Given the description of an element on the screen output the (x, y) to click on. 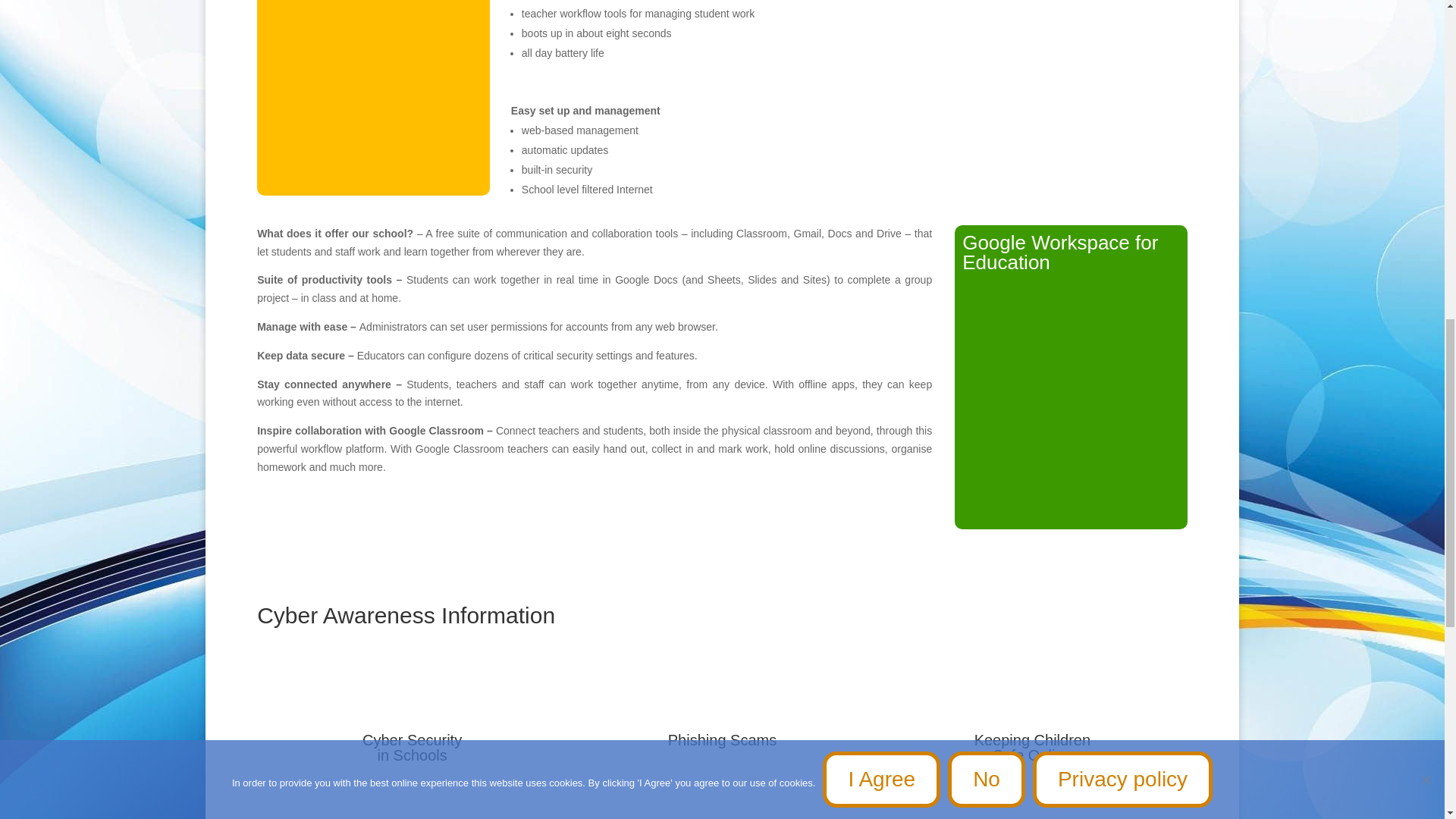
cyber (412, 706)
phish1 (722, 702)
